Given the description of an element on the screen output the (x, y) to click on. 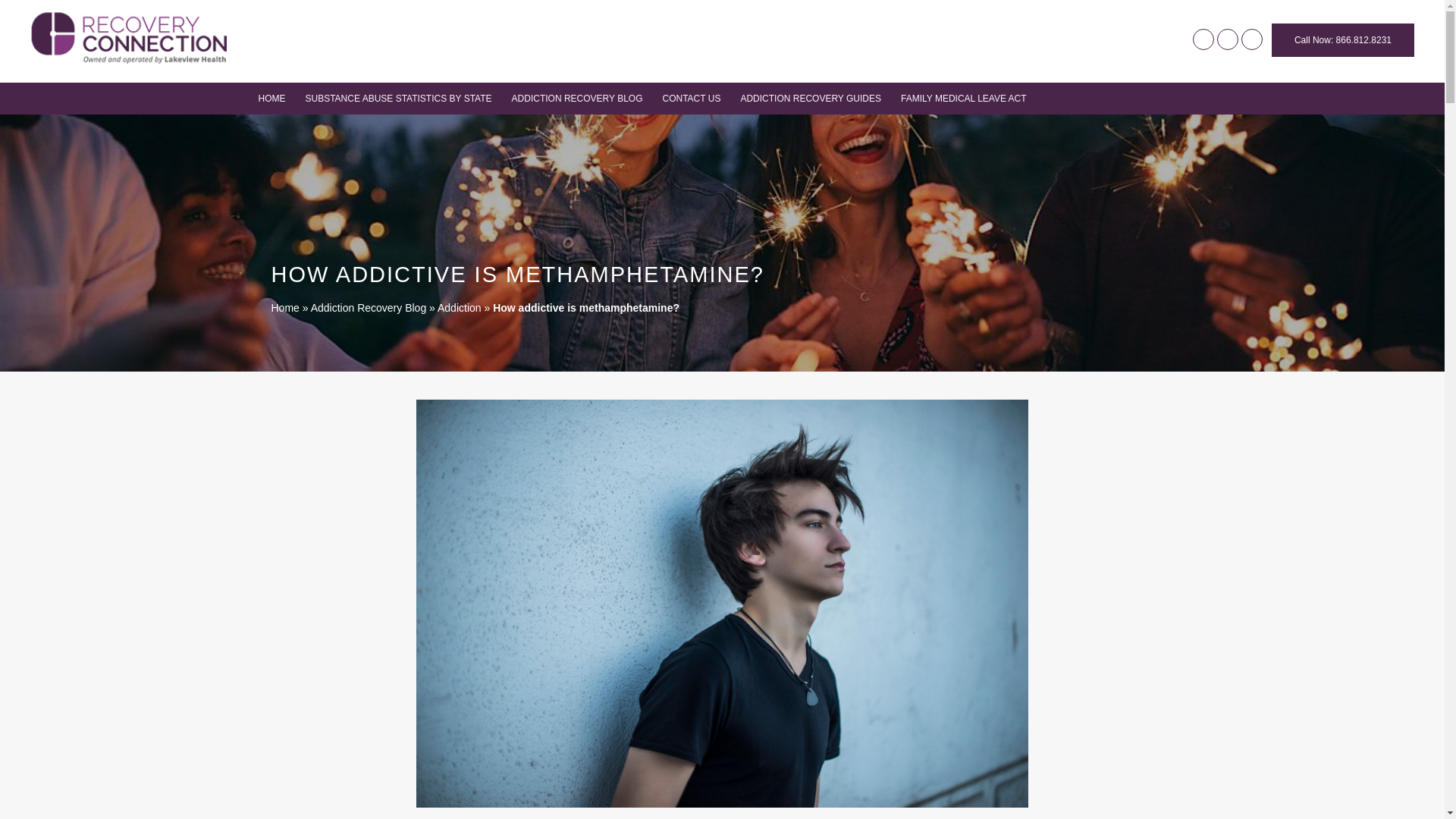
Addiction Recovery Blog (368, 307)
Home (430, 122)
ADDICTION RECOVERY GUIDES (810, 98)
Addiction (459, 307)
ADDICTION RECOVERY BLOG (576, 98)
Home (284, 307)
Addiction (604, 122)
Addiction Recovery Blog (513, 122)
Twitter (1228, 38)
SUBSTANCE ABUSE STATISTICS BY STATE (398, 98)
Call Now: 866.812.8231 (1342, 39)
FAMILY MEDICAL LEAVE ACT (963, 98)
HOME (271, 98)
Pinterest (1251, 38)
CONTACT US (692, 98)
